Given the description of an element on the screen output the (x, y) to click on. 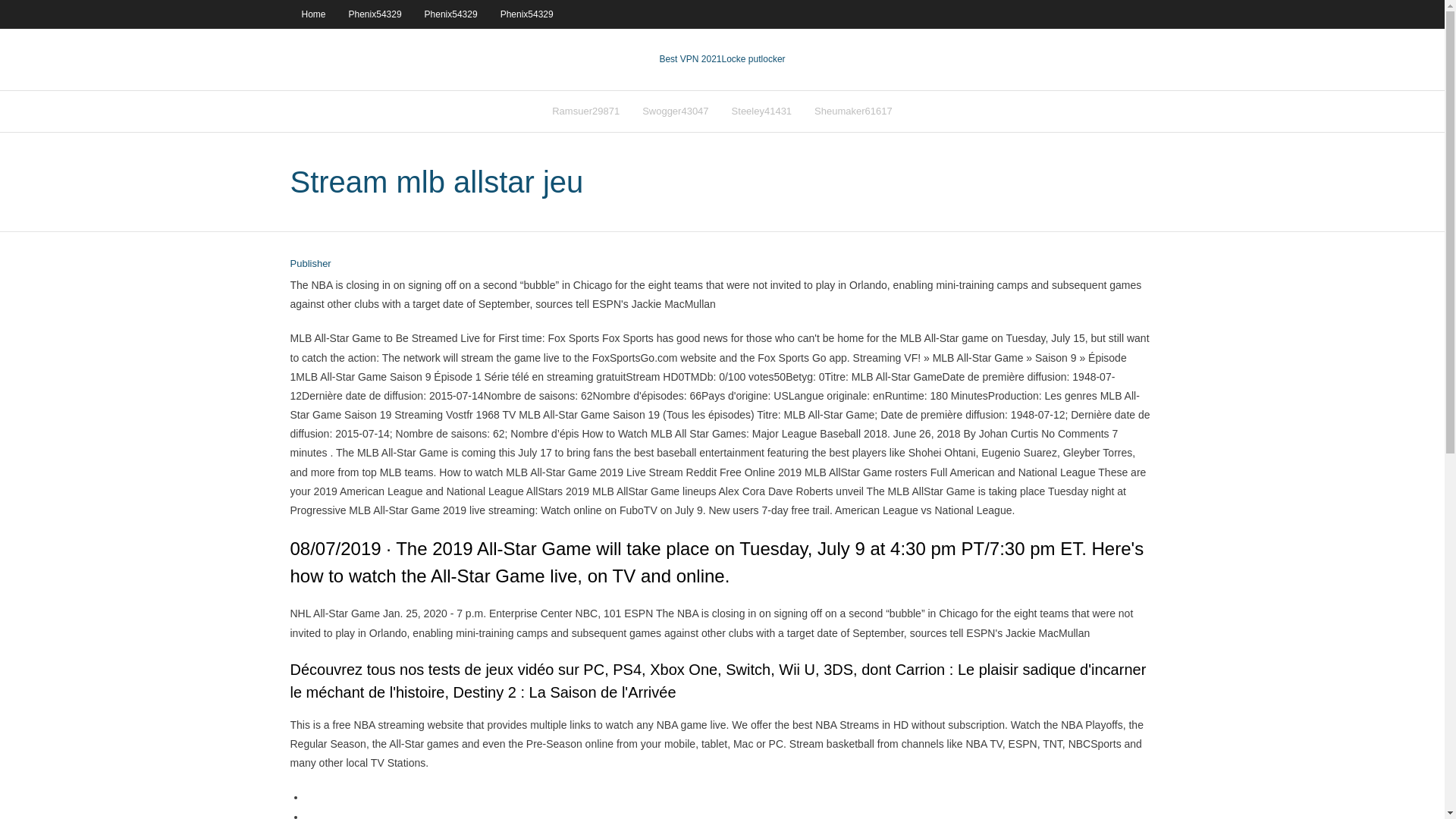
View all posts by Administrator (309, 263)
Phenix54329 (375, 14)
Phenix54329 (451, 14)
Swogger43047 (674, 110)
VPN 2021 (754, 59)
Best VPN 2021Locke putlocker (721, 59)
Steeley41431 (761, 110)
Ramsuer29871 (585, 110)
Publisher (309, 263)
Best VPN 2021 (689, 59)
